Given the description of an element on the screen output the (x, y) to click on. 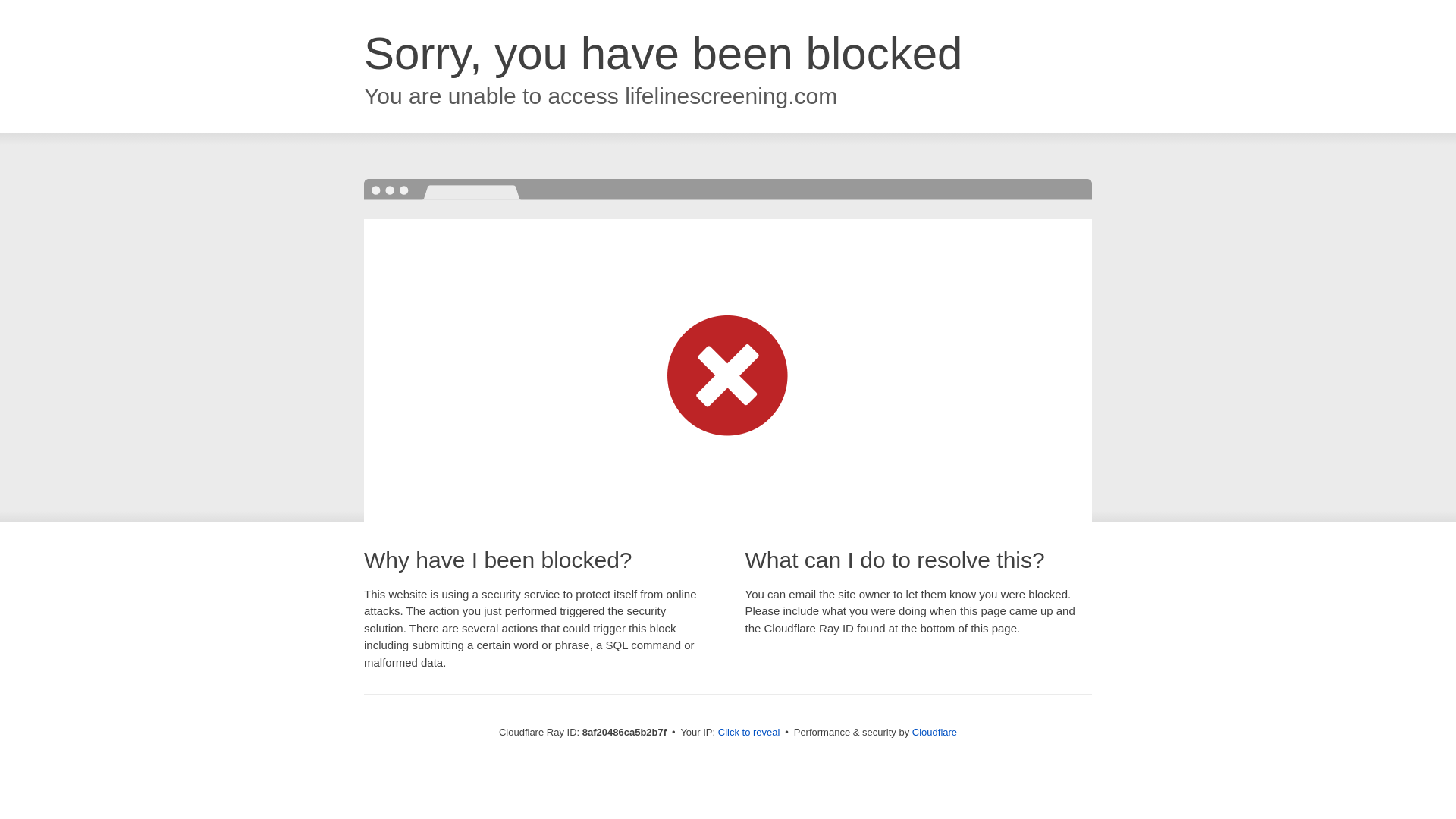
Cloudflare (934, 731)
Click to reveal (748, 732)
